Given the description of an element on the screen output the (x, y) to click on. 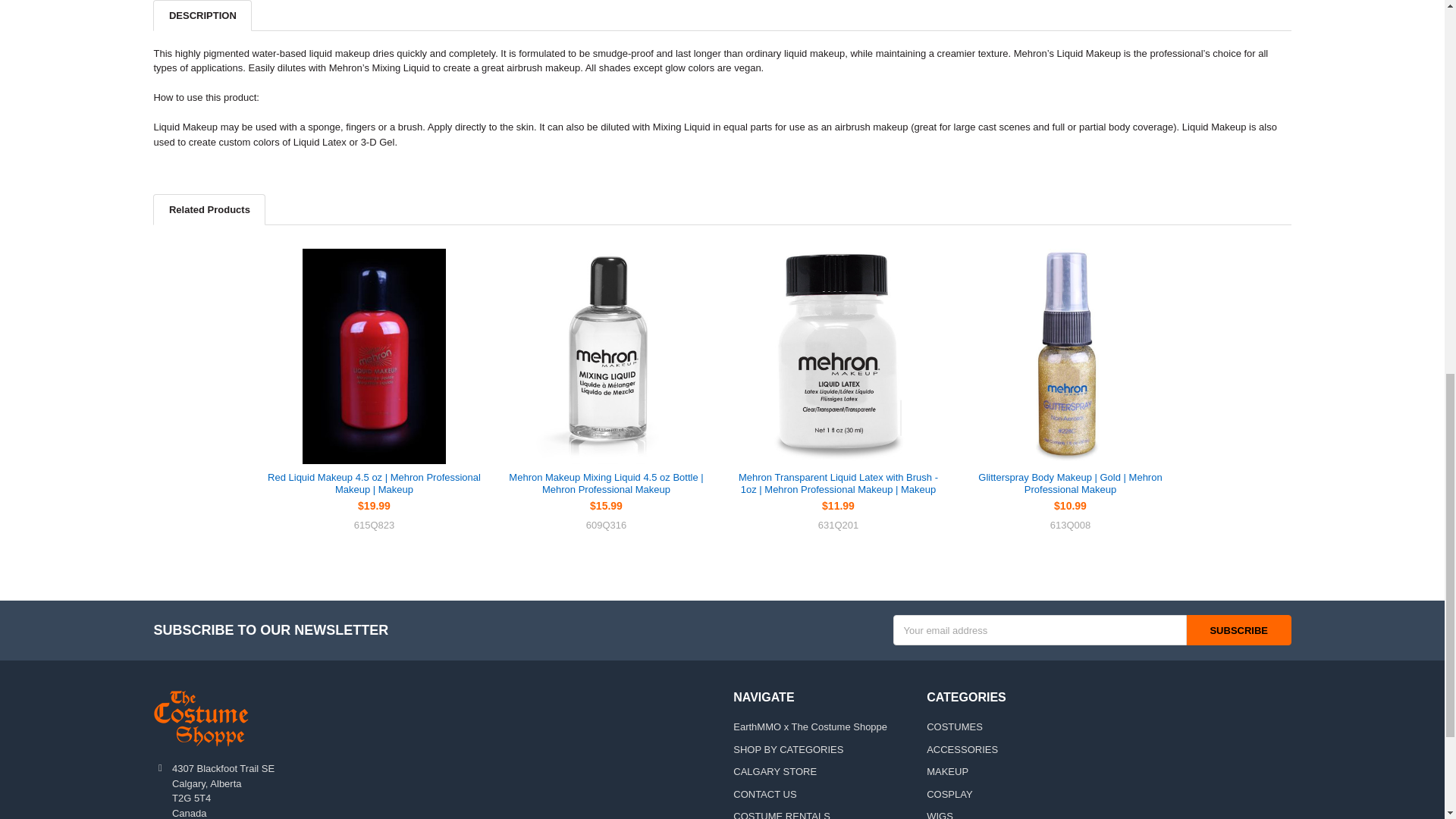
Mehron Makeup Mixing Liquid 4.5 oz (605, 356)
Subscribe (1238, 630)
Mehron Transparent Liquid Latex with Brush - 1oz (837, 356)
The Costume Shoppe (200, 718)
